Given the description of an element on the screen output the (x, y) to click on. 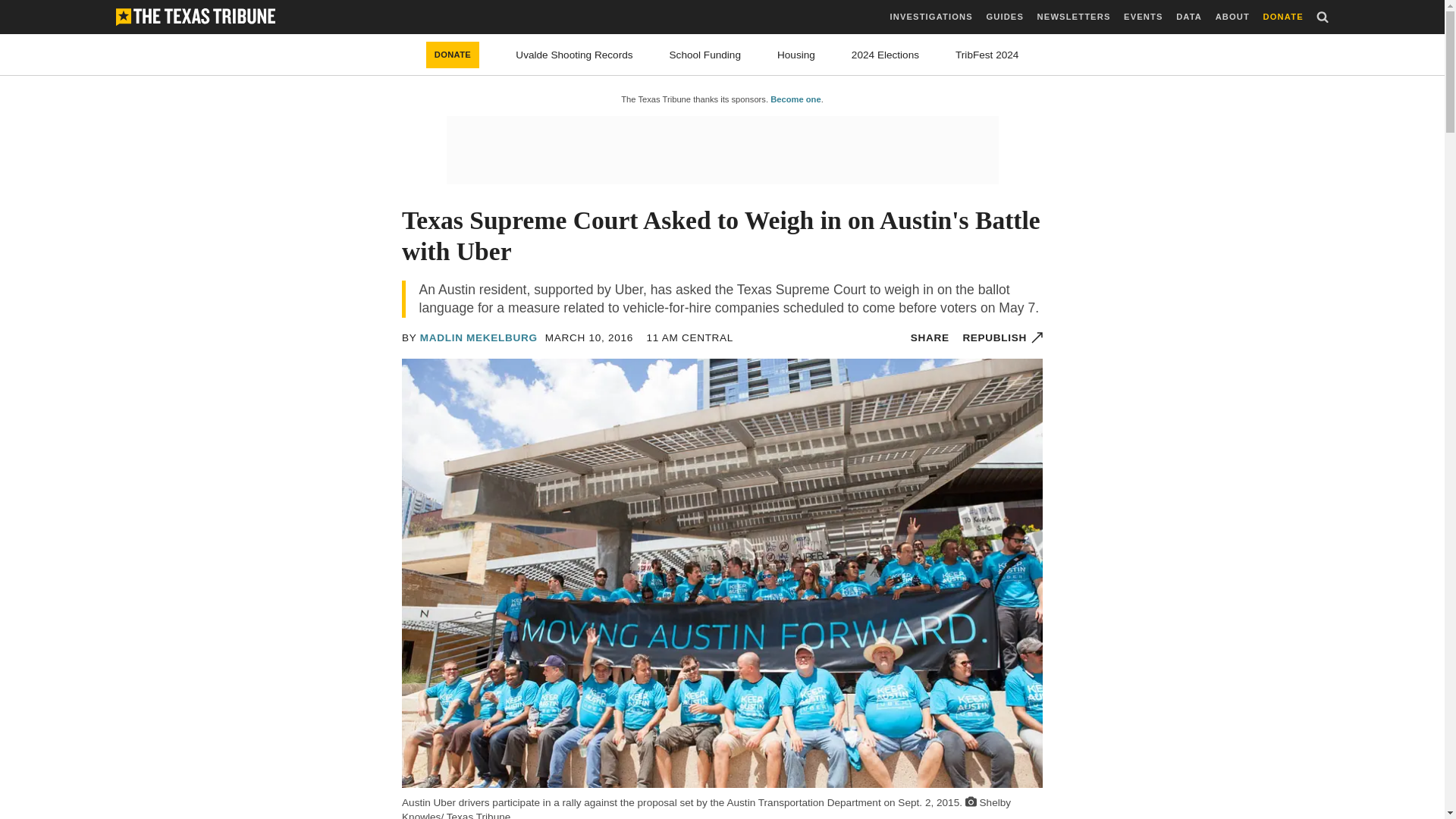
NEWSLETTERS (1073, 17)
ABOUT (1232, 17)
Sign up (794, 446)
Housing (796, 54)
INVESTIGATIONS (930, 17)
3rd party ad content (721, 150)
Uvalde Shooting Records (573, 54)
2024 Elections (884, 54)
Become one (795, 99)
MADLIN MEKELBURG (478, 337)
